Given the description of an element on the screen output the (x, y) to click on. 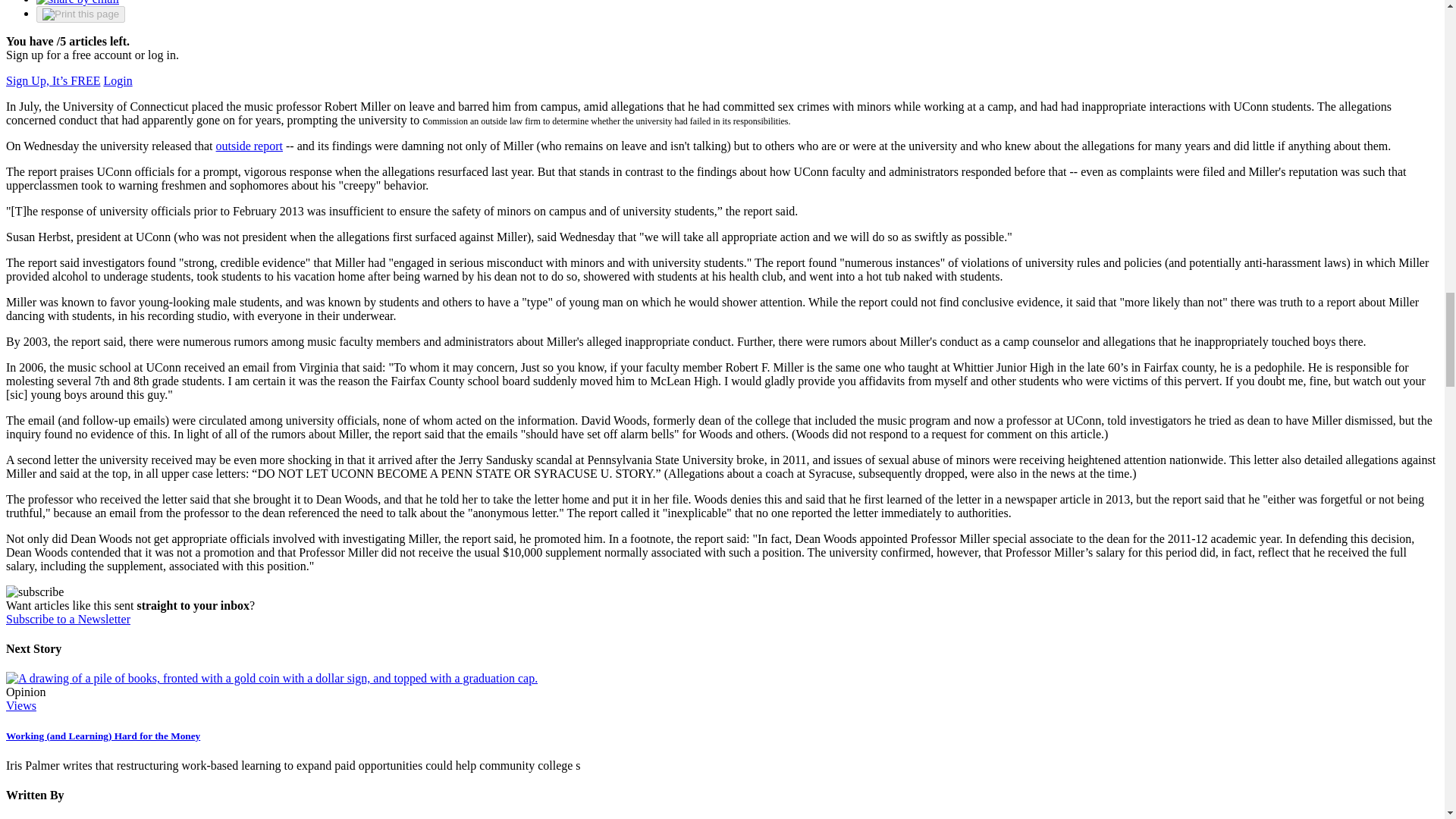
share by email (77, 2)
